Given the description of an element on the screen output the (x, y) to click on. 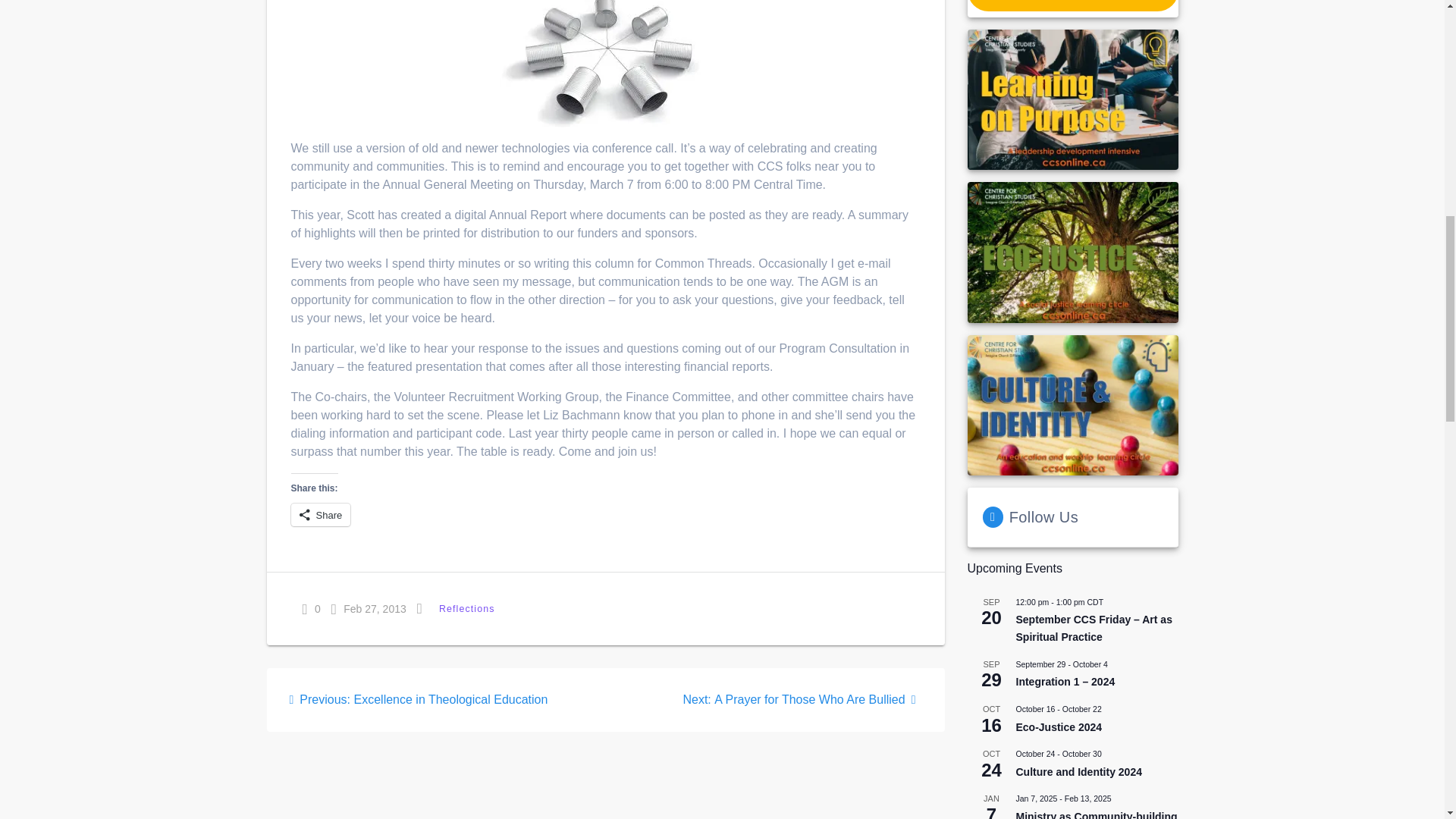
Eco-Justice 2024 (1059, 727)
Ministry as Community-building 2025 (1096, 814)
Culture and Identity 2024 (1078, 771)
